Given the description of an element on the screen output the (x, y) to click on. 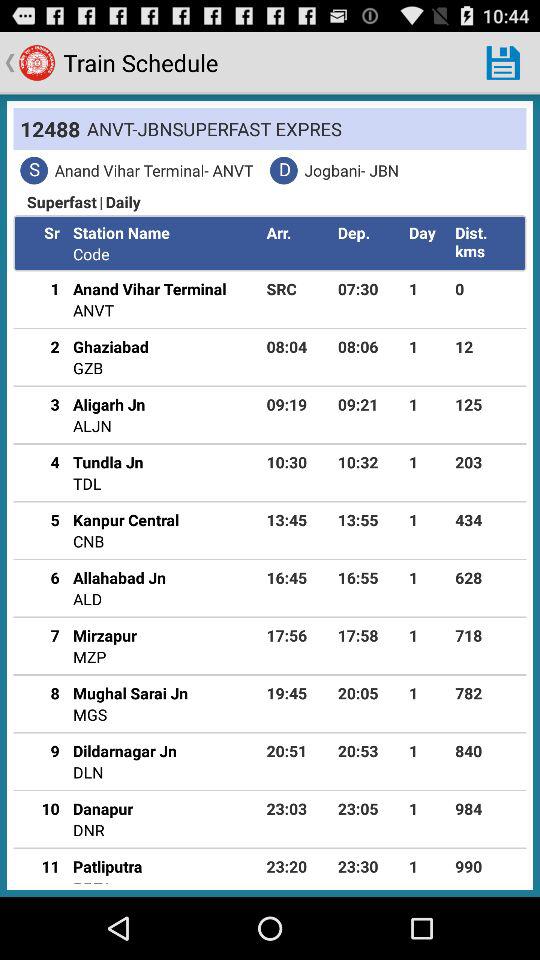
launch the app to the left of the 17:56 item (104, 635)
